Given the description of an element on the screen output the (x, y) to click on. 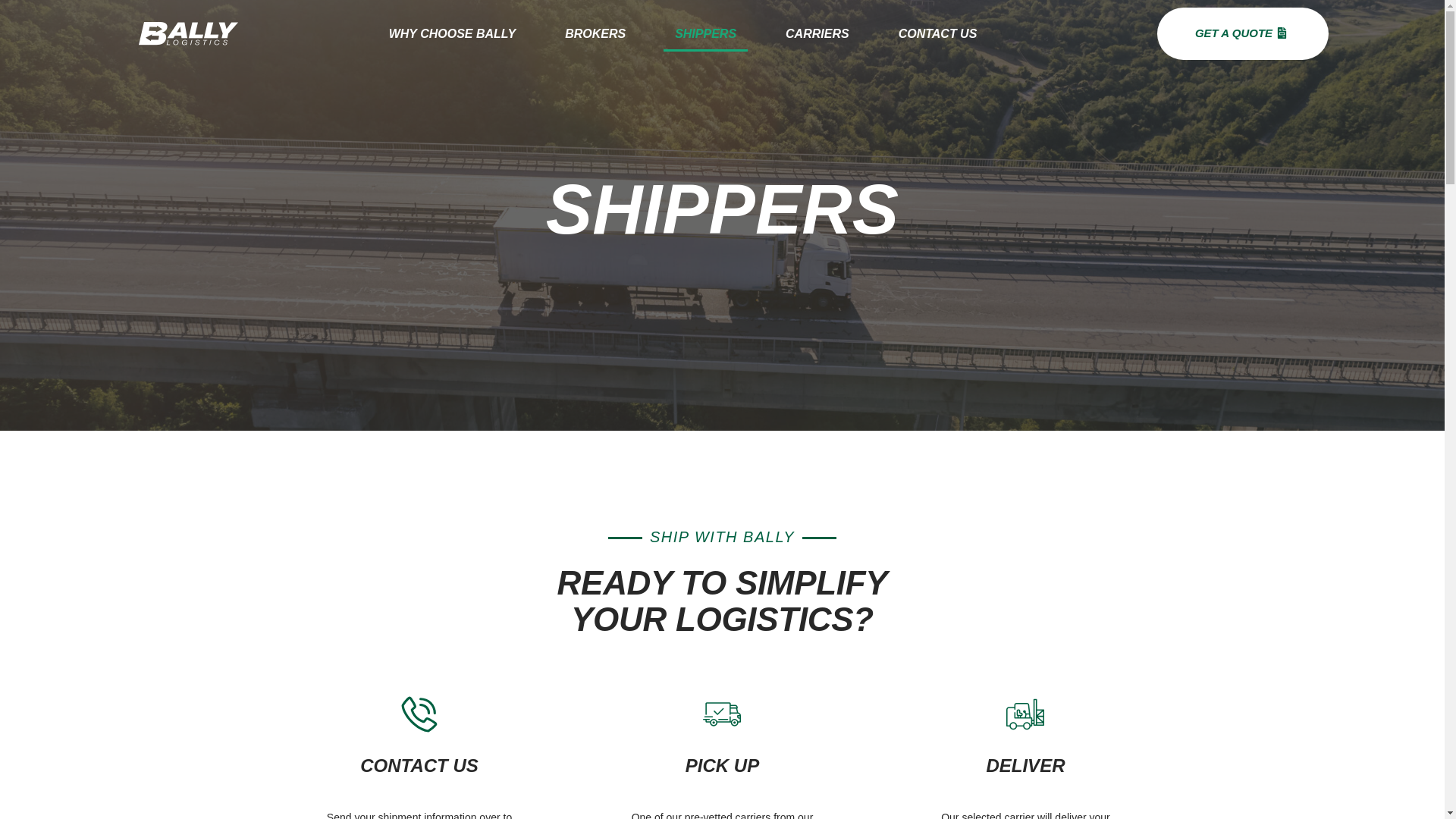
GET A QUOTE (1242, 33)
SHIPPERS (705, 33)
BROKERS (595, 33)
WHY CHOOSE BALLY (452, 33)
CONTACT US (937, 33)
CARRIERS (817, 33)
